Given the description of an element on the screen output the (x, y) to click on. 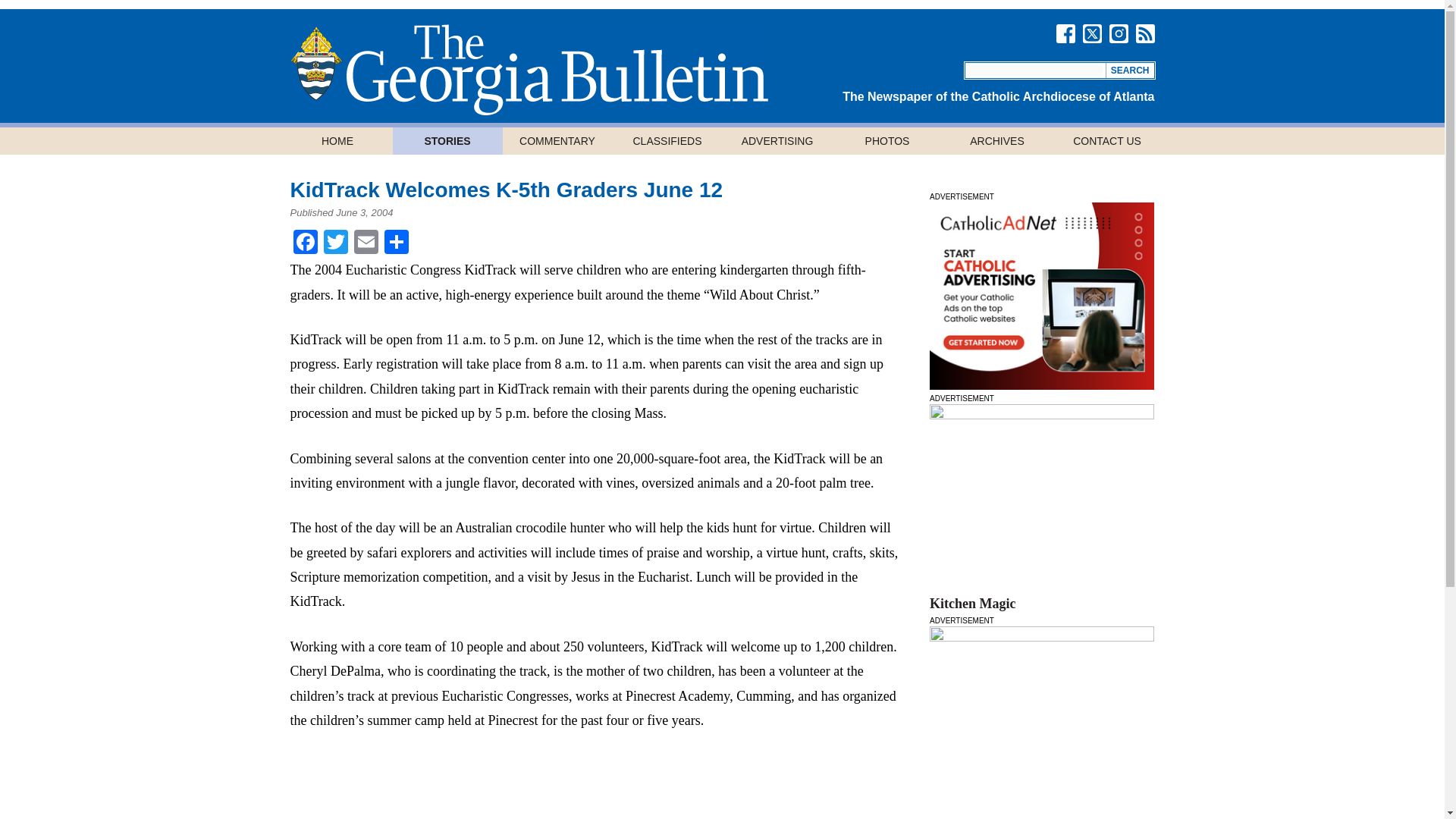
Email (365, 243)
Search (1129, 70)
Facebook (304, 243)
COMMENTARY (556, 140)
Find us on Facebook (1064, 33)
ADVERTISING (776, 140)
Follow us on Twitter (1092, 33)
PHOTOS (887, 140)
HOME (336, 140)
Twitter (335, 243)
Georgia Bulletin (528, 69)
Grab our RSS Feed (1144, 33)
CLASSIFIEDS (667, 140)
STORIES (447, 140)
Follow us on Instagram (1117, 33)
